Given the description of an element on the screen output the (x, y) to click on. 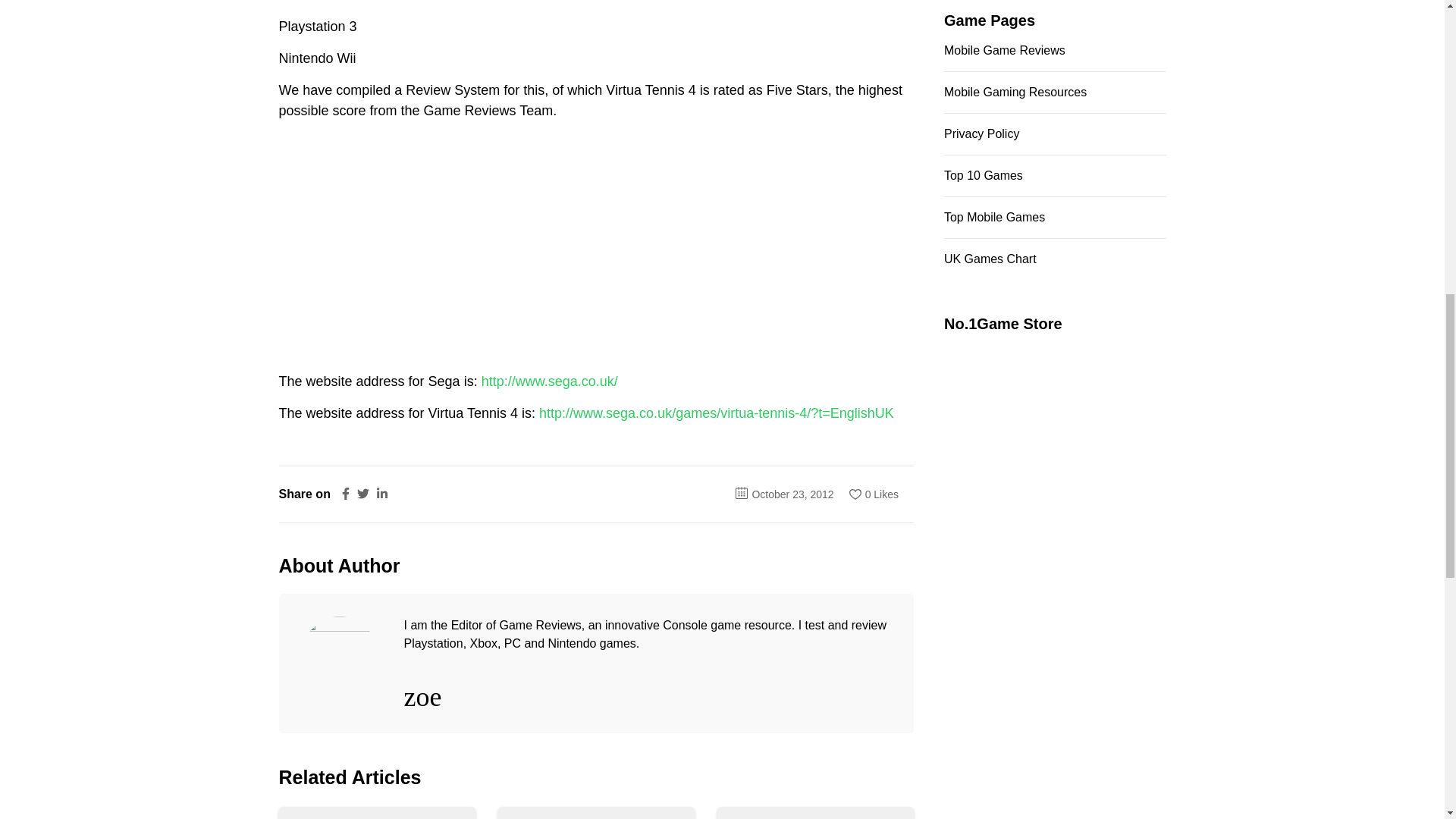
October 23, 2012 (791, 494)
Virtua Tennis 4 (392, 246)
